Given the description of an element on the screen output the (x, y) to click on. 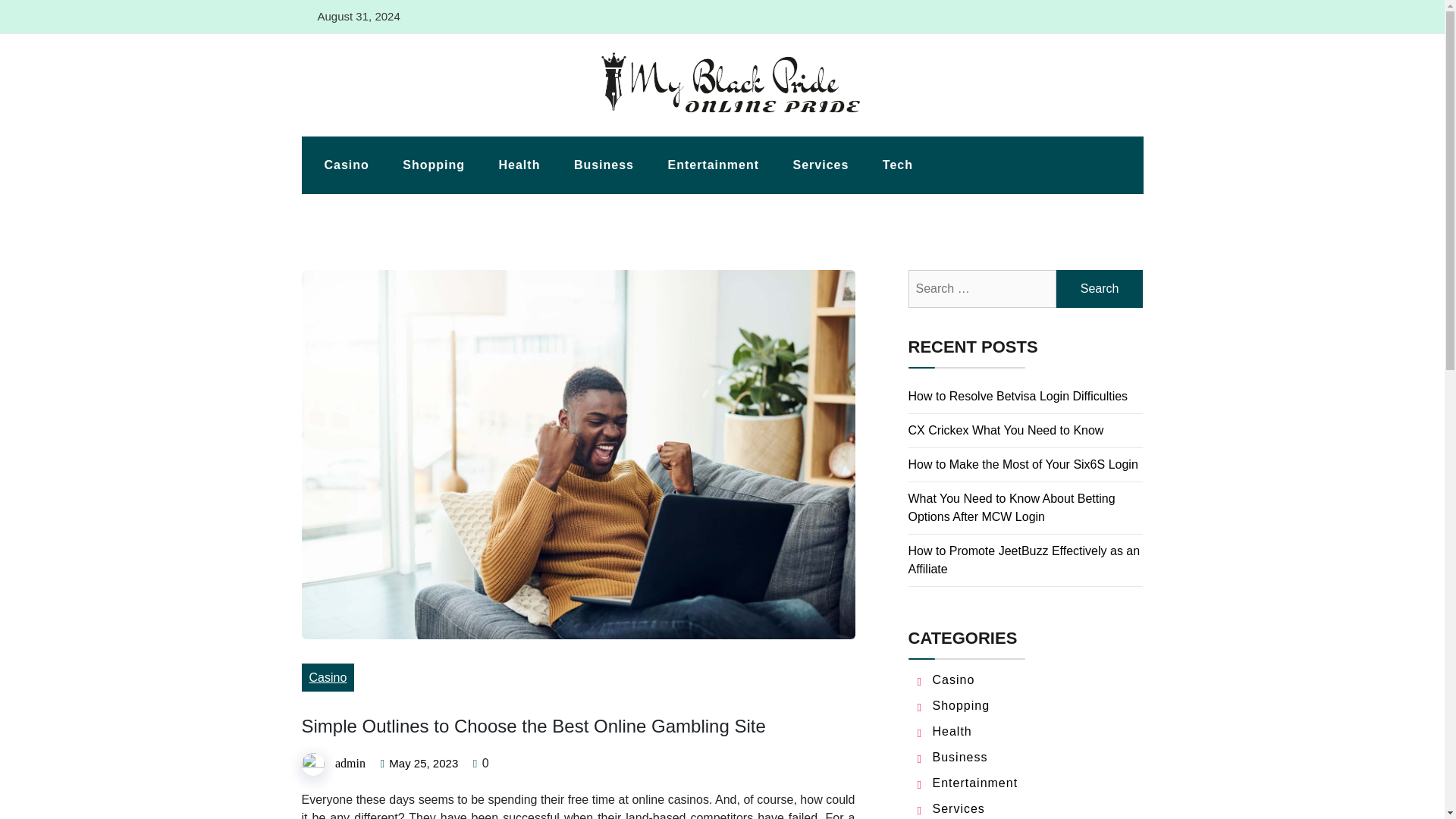
Casino (328, 677)
Search (1099, 288)
Health (952, 730)
CX Crickex What You Need to Know (1005, 430)
What You Need to Know About Betting Options After MCW Login (1011, 507)
Shopping (961, 705)
May 25, 2023 (423, 763)
Business (604, 165)
Search (1099, 288)
Casino (346, 165)
